Given the description of an element on the screen output the (x, y) to click on. 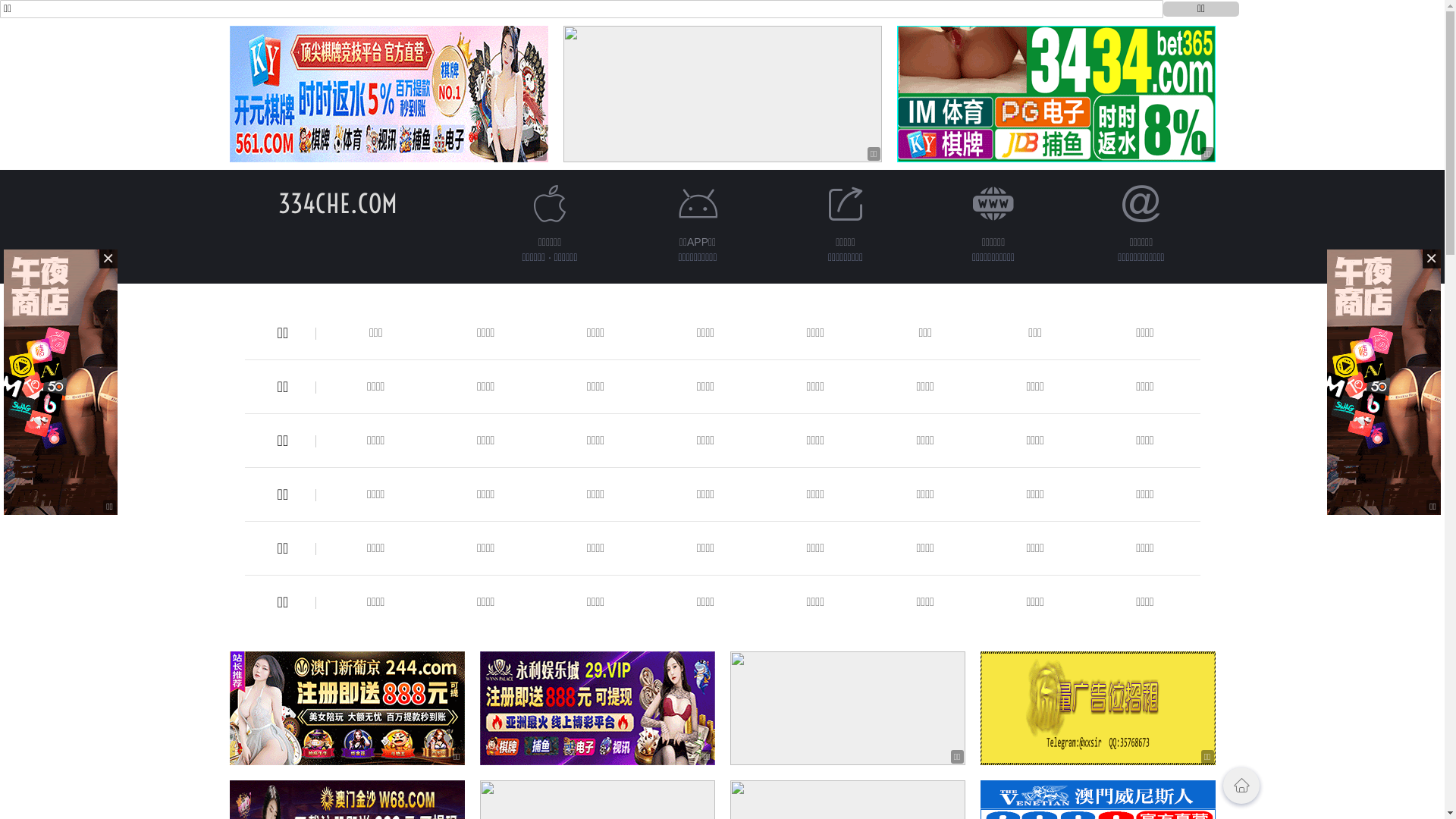
334CHE.COM Element type: text (337, 203)
